Given the description of an element on the screen output the (x, y) to click on. 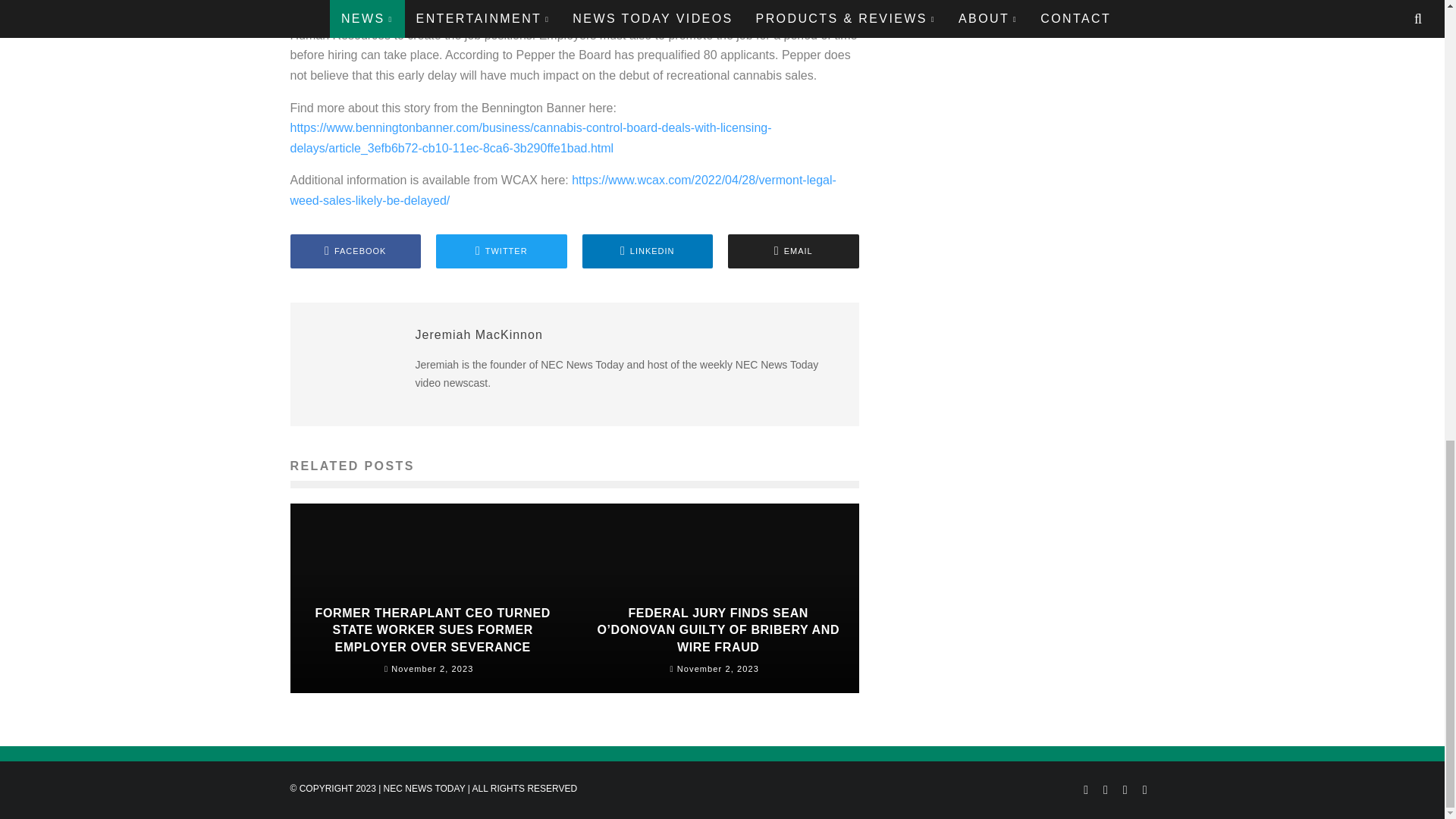
EMAIL (793, 251)
Jeremiah MacKinnon (478, 334)
TWITTER (501, 251)
FACEBOOK (354, 251)
LINKEDIN (647, 251)
